Given the description of an element on the screen output the (x, y) to click on. 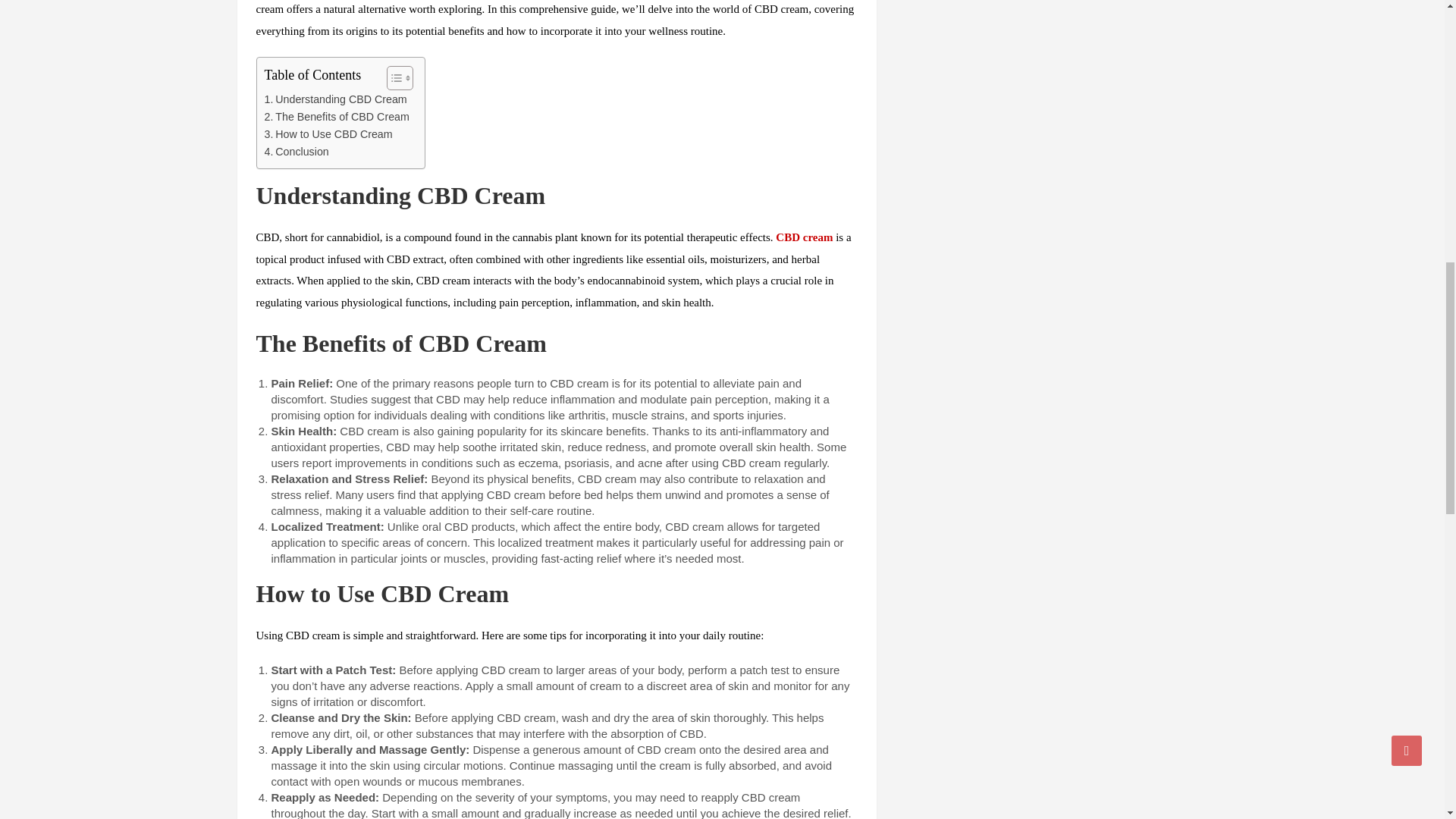
How to Use CBD Cream (327, 134)
The Benefits of CBD Cream (336, 117)
Understanding CBD Cream (334, 99)
Conclusion (296, 151)
